Given the description of an element on the screen output the (x, y) to click on. 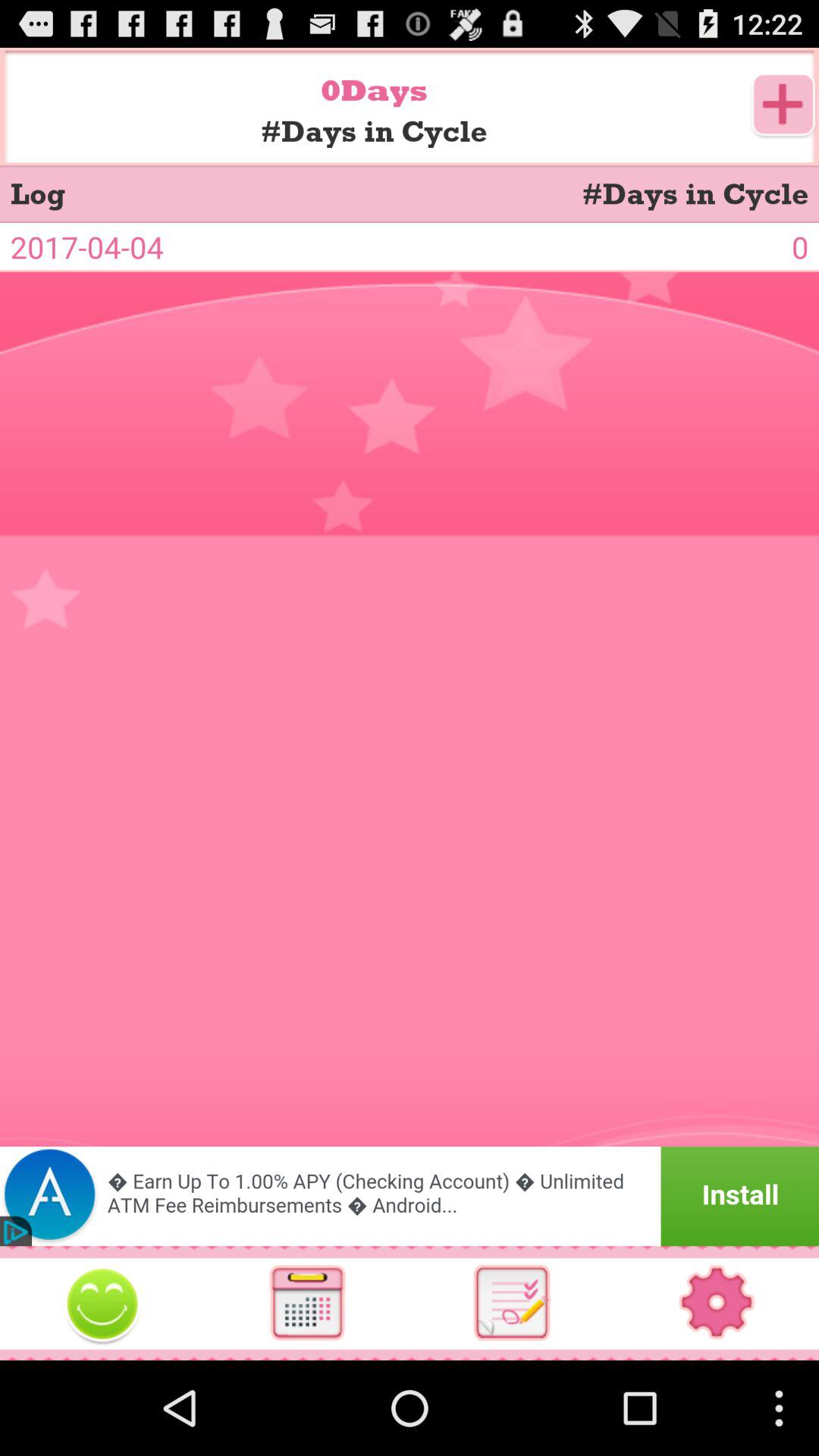
switch autoplay option (716, 1302)
